Given the description of an element on the screen output the (x, y) to click on. 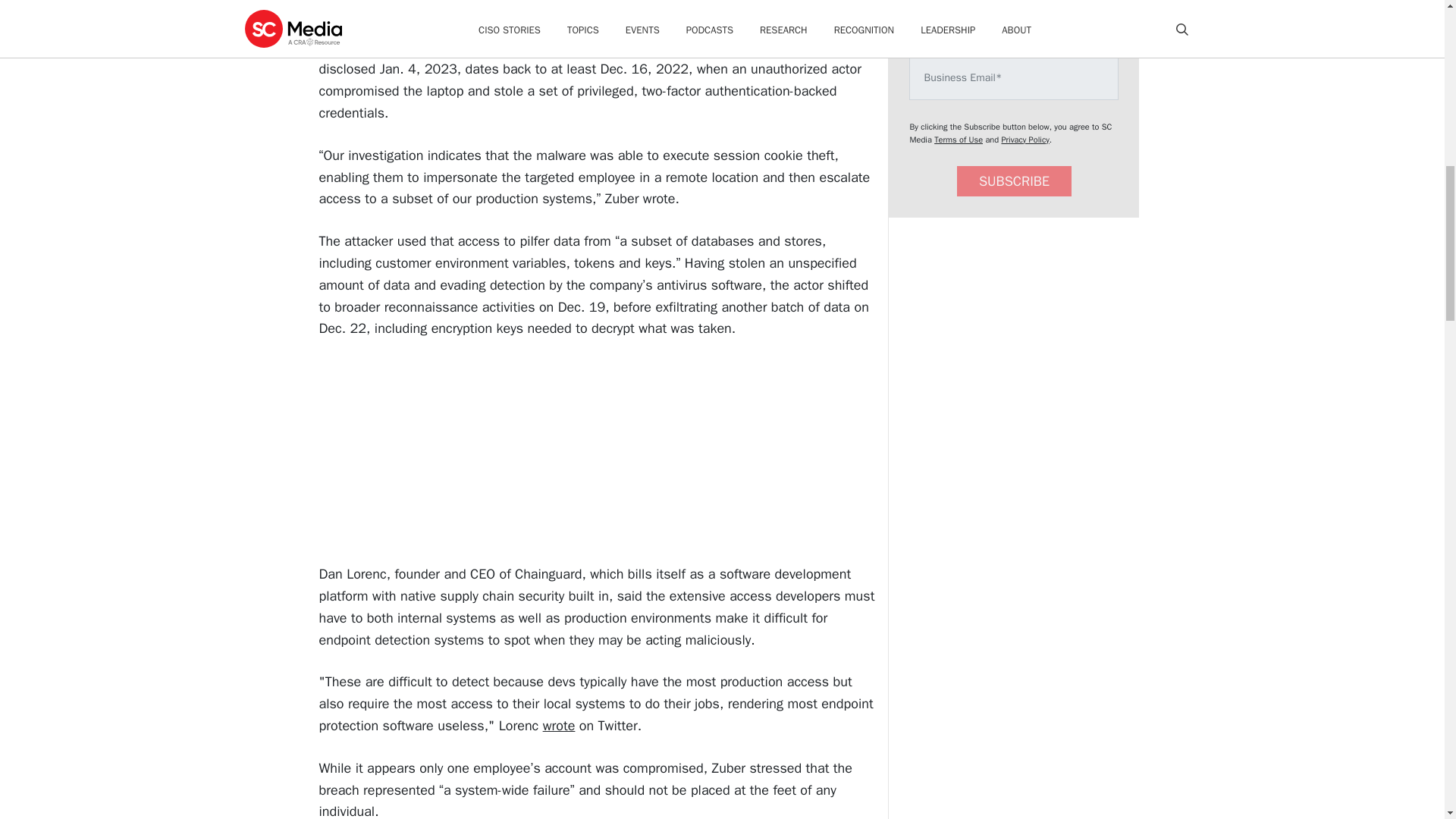
Terms of Use (958, 139)
Privacy Policy (1024, 139)
SUBSCRIBE (1013, 181)
published (471, 47)
wrote (559, 725)
